Given the description of an element on the screen output the (x, y) to click on. 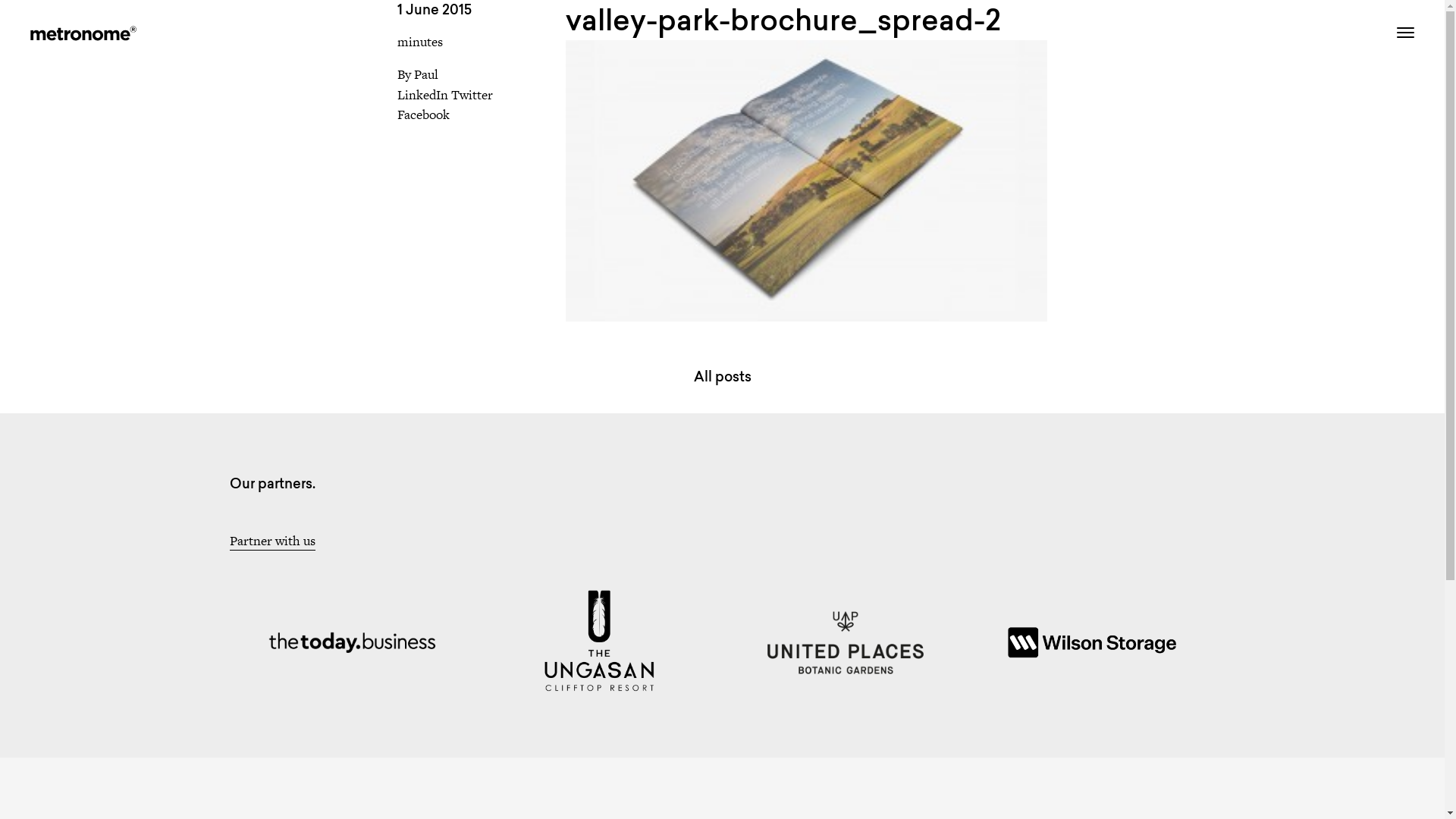
Partner with us Element type: text (271, 540)
LinkedIn Element type: text (422, 94)
Menu Element type: hover (1399, 32)
All posts Element type: text (721, 376)
Facebook Element type: text (423, 114)
Twitter Element type: text (471, 94)
